Given the description of an element on the screen output the (x, y) to click on. 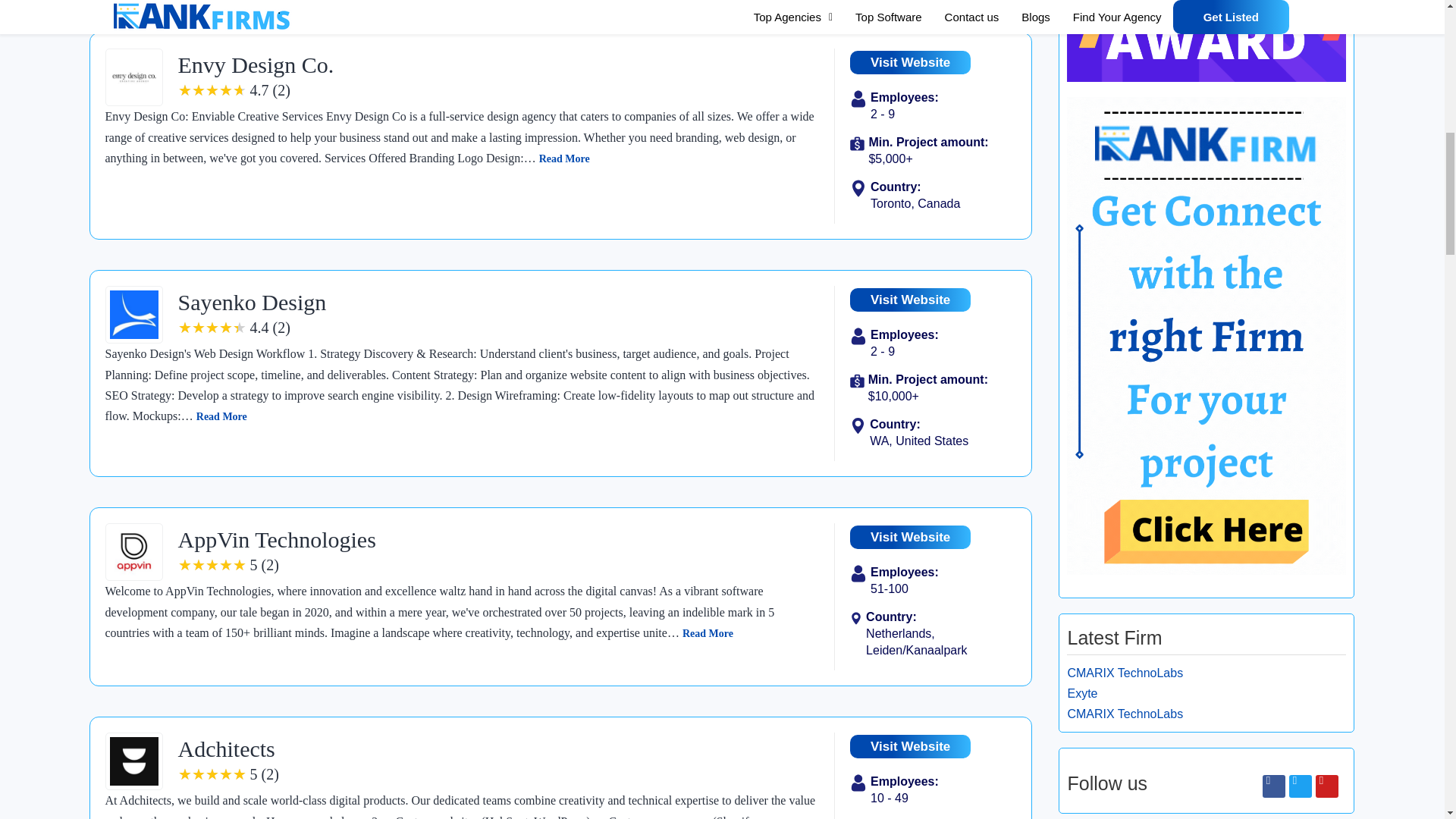
Visit Website (910, 536)
Sayenko Design (251, 301)
AppVin Technologies (276, 539)
Read More (707, 633)
Visit Website (910, 746)
Adchitects (226, 748)
Visit Website (910, 300)
Visit Website (910, 62)
Envy Design Co. (255, 64)
Read More (221, 416)
